Given the description of an element on the screen output the (x, y) to click on. 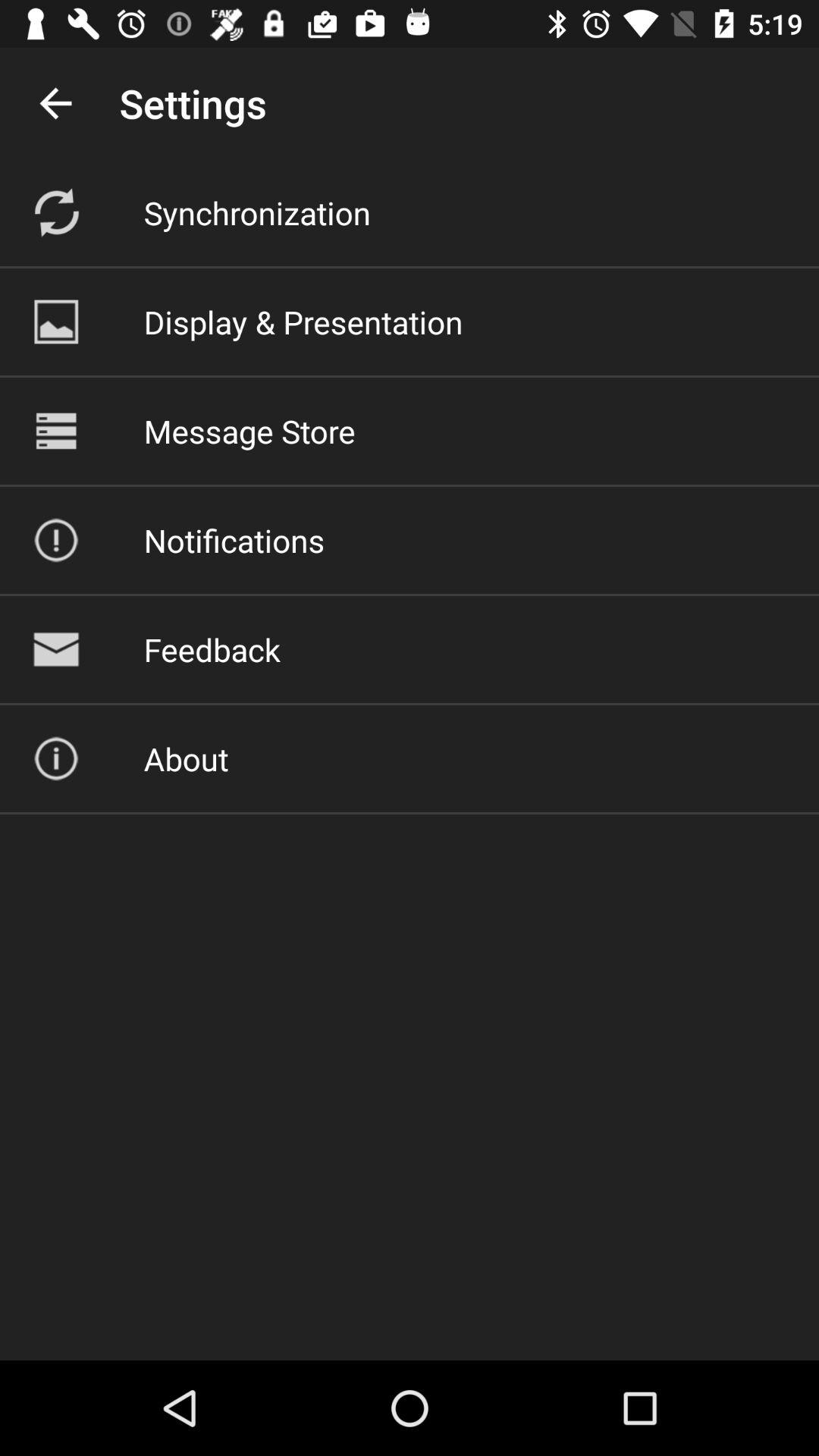
tap the about item (185, 758)
